Given the description of an element on the screen output the (x, y) to click on. 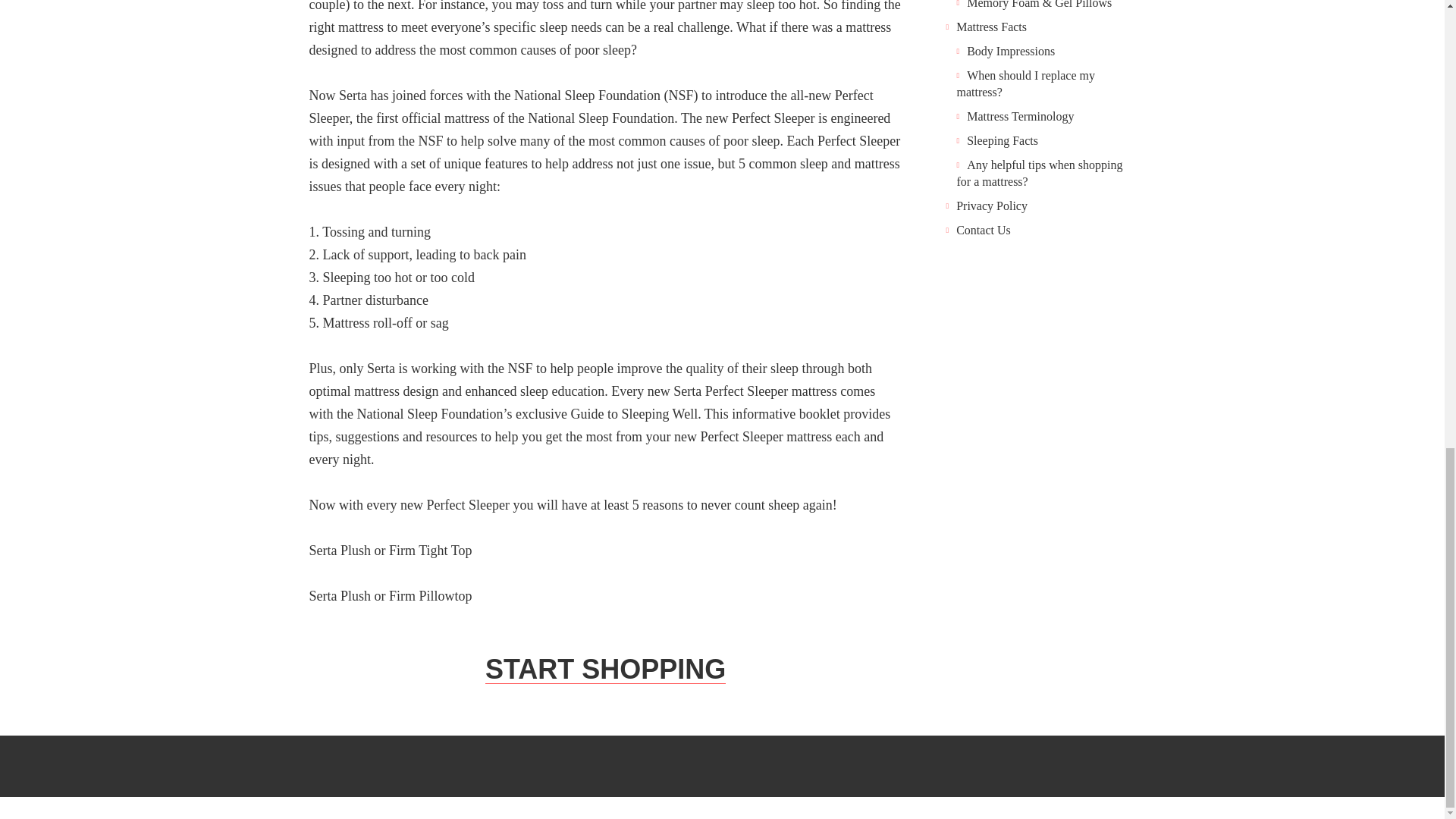
START SHOPPING (604, 668)
